Given the description of an element on the screen output the (x, y) to click on. 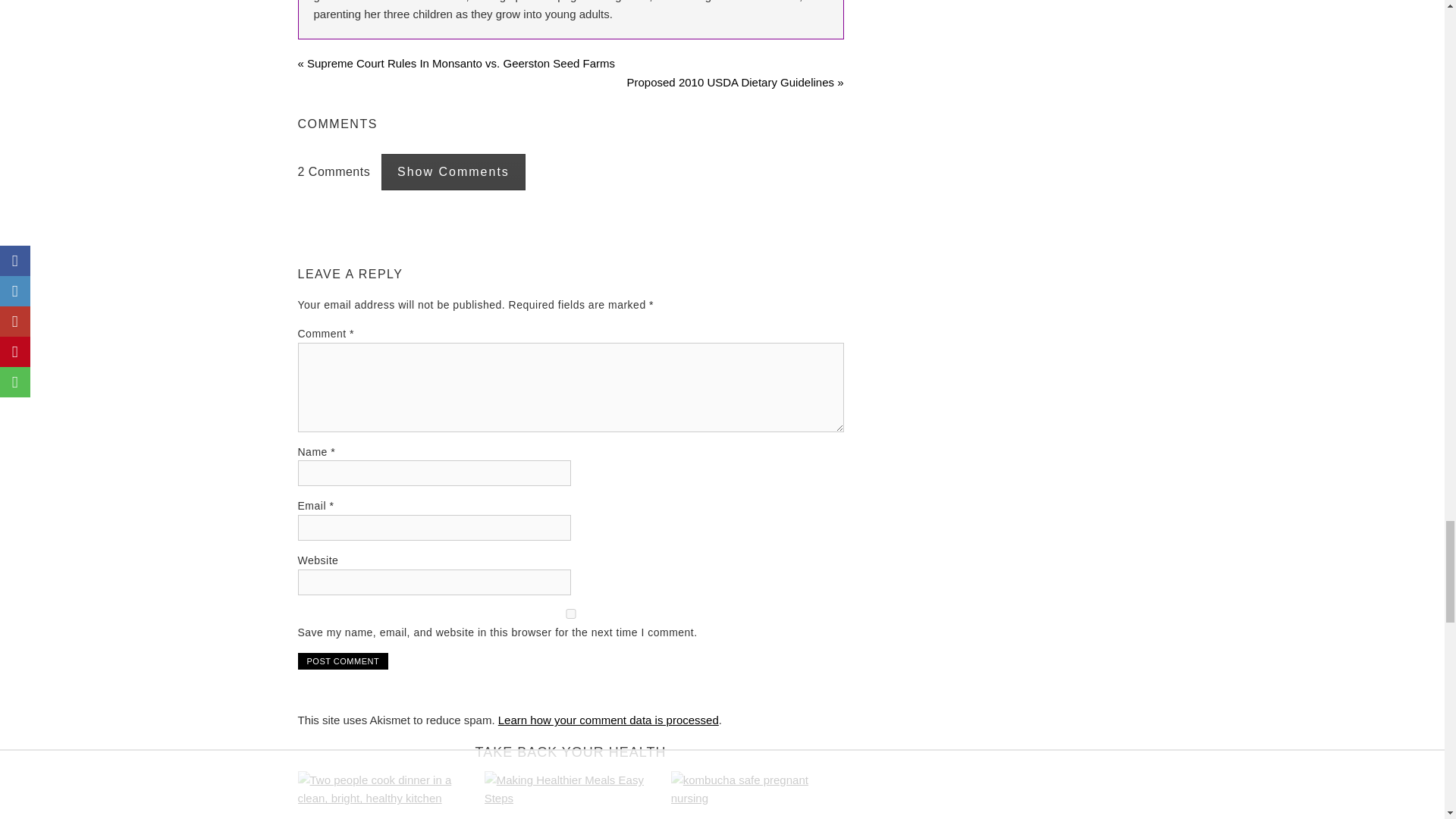
Make Healthier Meals in 5 Easy Steps (571, 795)
yes (570, 614)
Post Comment (342, 660)
Is Kombucha Safe When Pregnant or Nursing? (757, 795)
How to Create a Healthy Kitchen (383, 795)
